Given the description of an element on the screen output the (x, y) to click on. 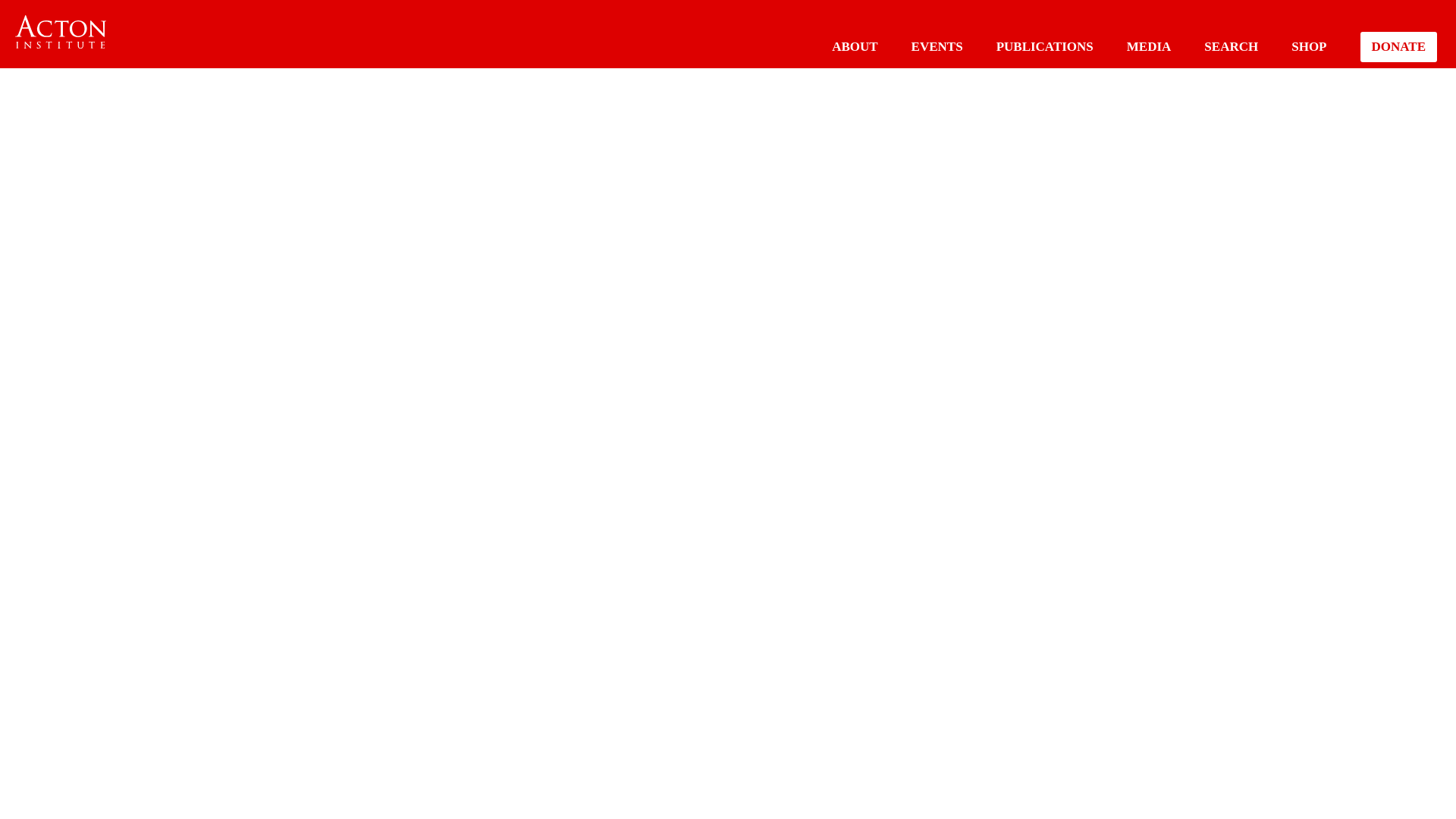
The Acton Institute (60, 31)
PUBLICATIONS (1044, 46)
MEDIA (1149, 46)
SEARCH (1230, 46)
SHOP (1308, 46)
ABOUT (854, 46)
DONATE (1398, 46)
EVENTS (936, 46)
